Given the description of an element on the screen output the (x, y) to click on. 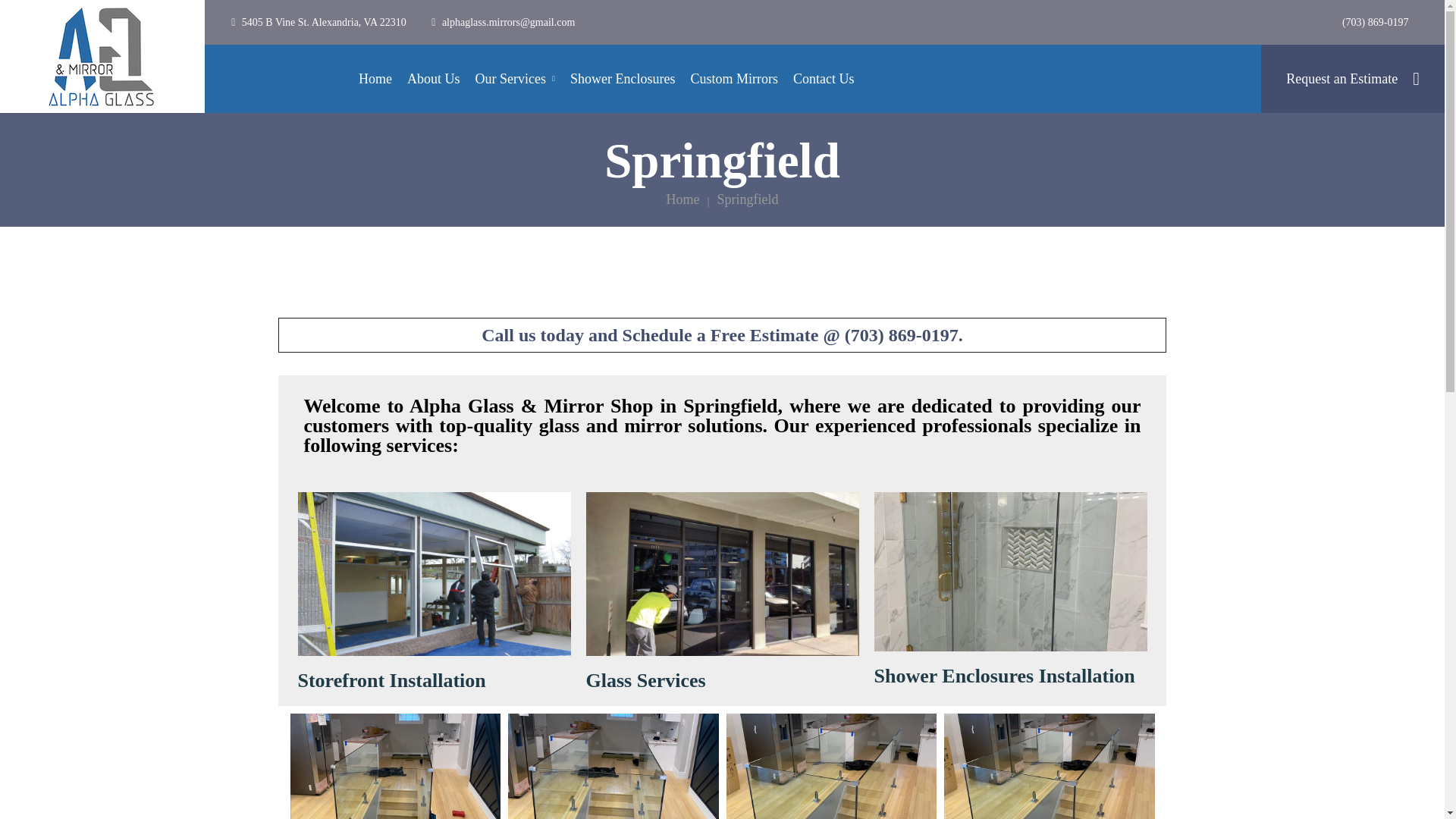
Shower Enclosures (622, 79)
Home (681, 199)
Contact Us (823, 79)
Home (374, 79)
Our Services (514, 79)
